Given the description of an element on the screen output the (x, y) to click on. 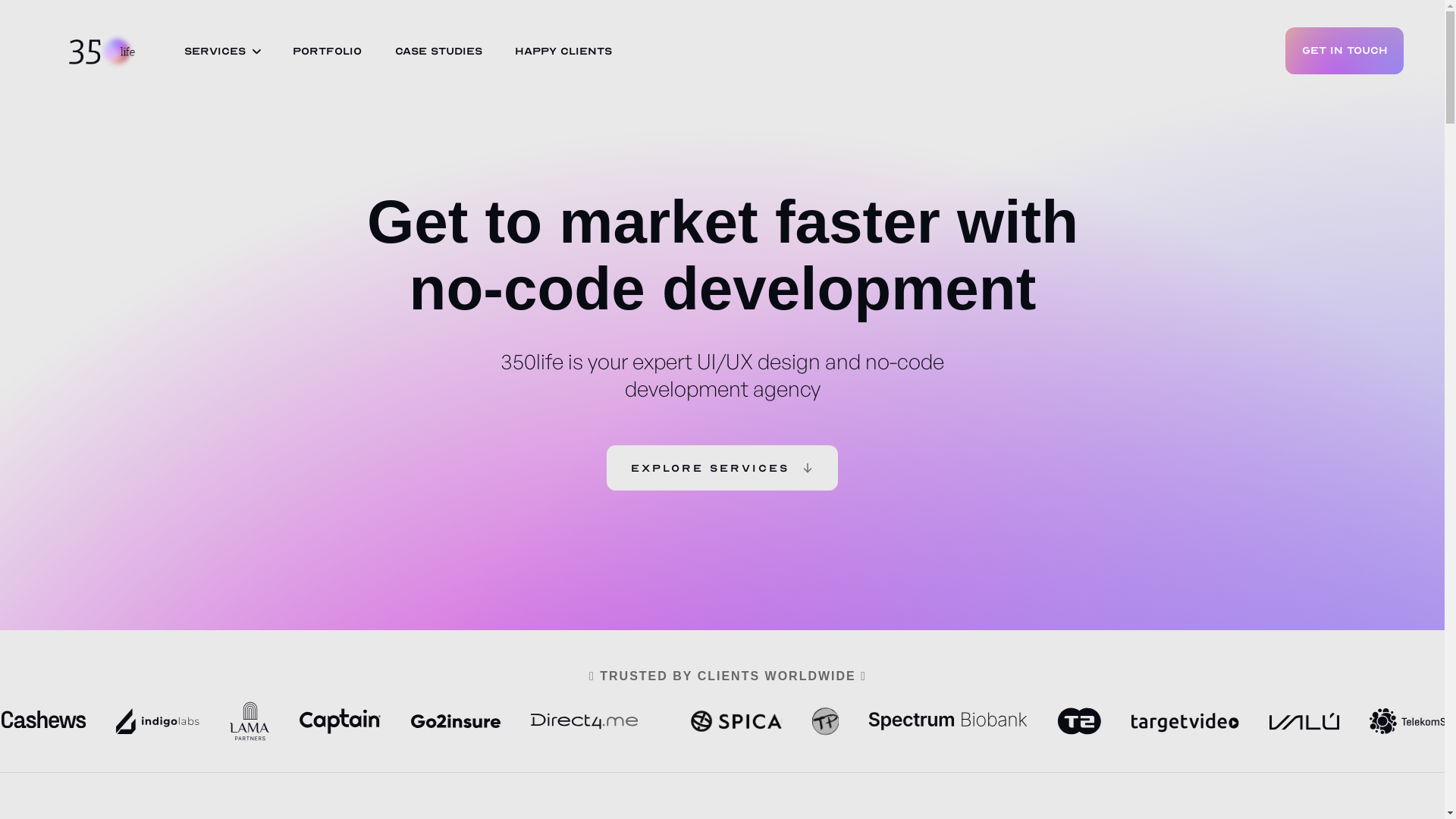
CASE STUDIES Element type: text (438, 51)
Portfolio Element type: text (327, 51)
SERVICES Element type: text (214, 51)
HAPPY CLIENTS Element type: text (562, 51)
GET IN TOUCH Element type: text (1344, 50)
Explore services Element type: text (721, 467)
